Given the description of an element on the screen output the (x, y) to click on. 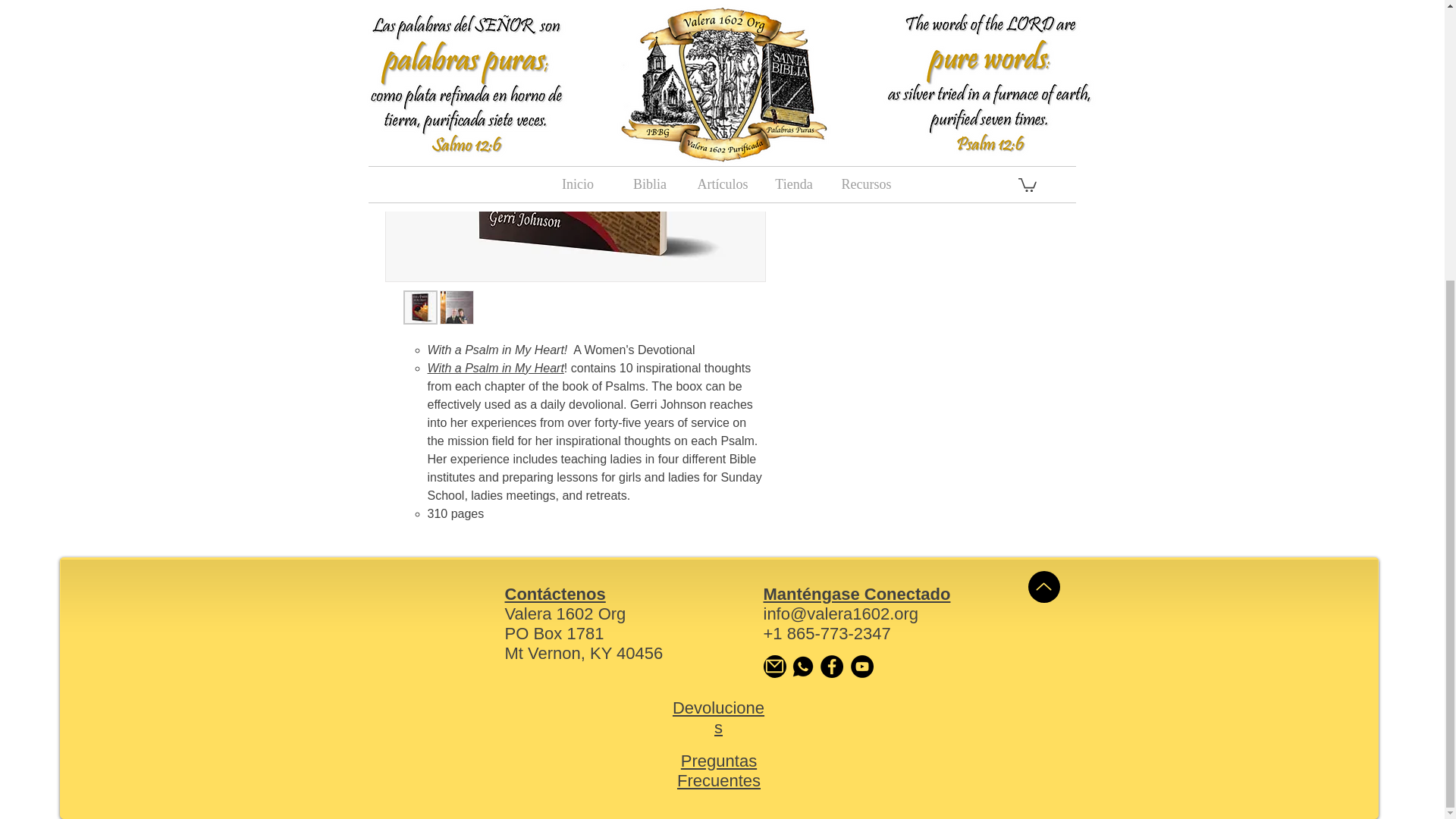
Realizar compra (924, 97)
Devoluciones (718, 717)
1 (817, 9)
Preguntas Frecuentes (718, 770)
Agregar al carrito (924, 57)
